Given the description of an element on the screen output the (x, y) to click on. 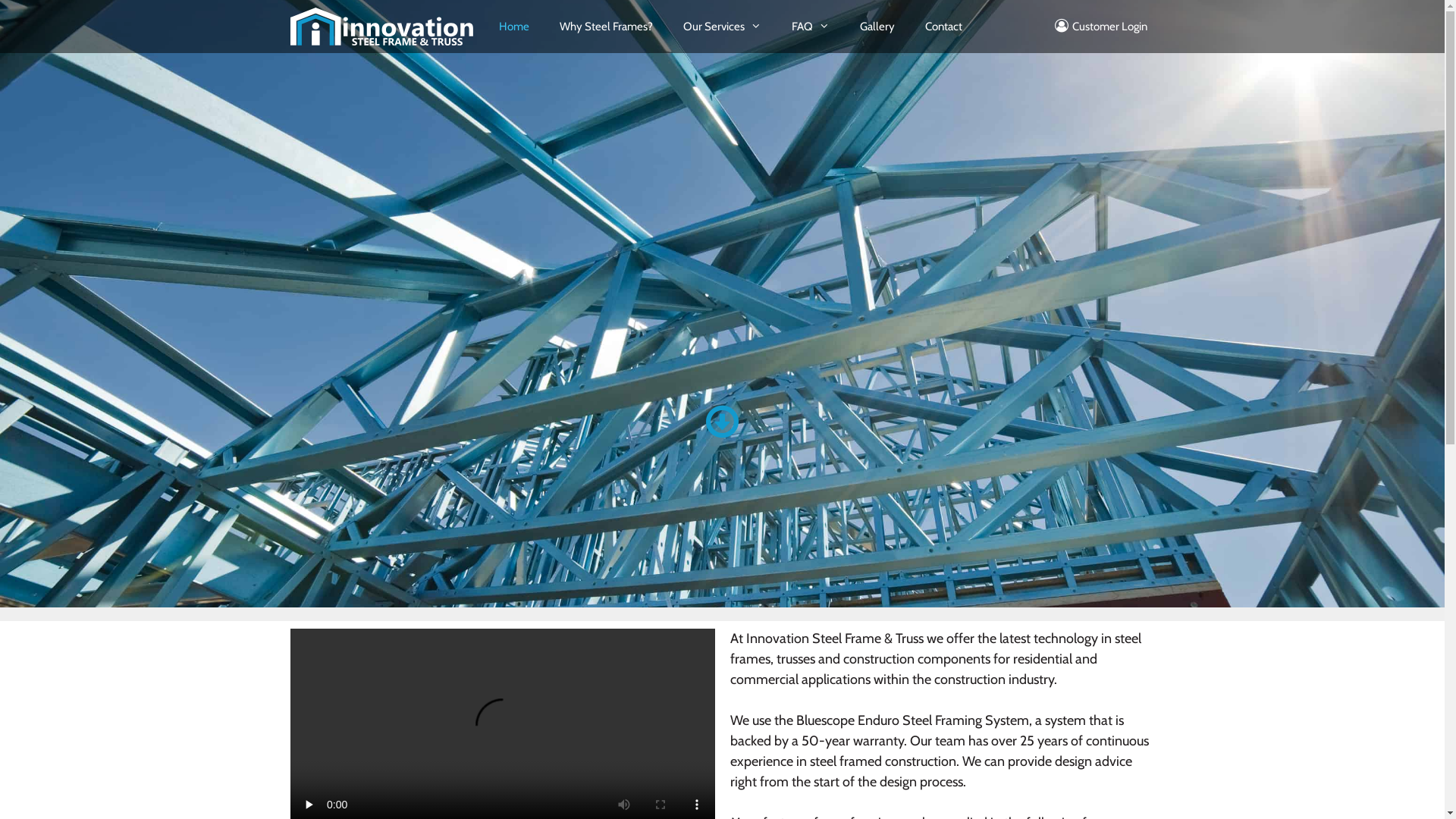
Home Element type: text (513, 26)
Innovation Steel Frame and Truss Element type: hover (381, 26)
Customer Login Element type: text (1100, 26)
Gallery Element type: text (877, 26)
Why Steel Frames? Element type: text (606, 26)
Contact Element type: text (943, 26)
FAQ Element type: text (810, 26)
Our Services Element type: text (722, 26)
